Given the description of an element on the screen output the (x, y) to click on. 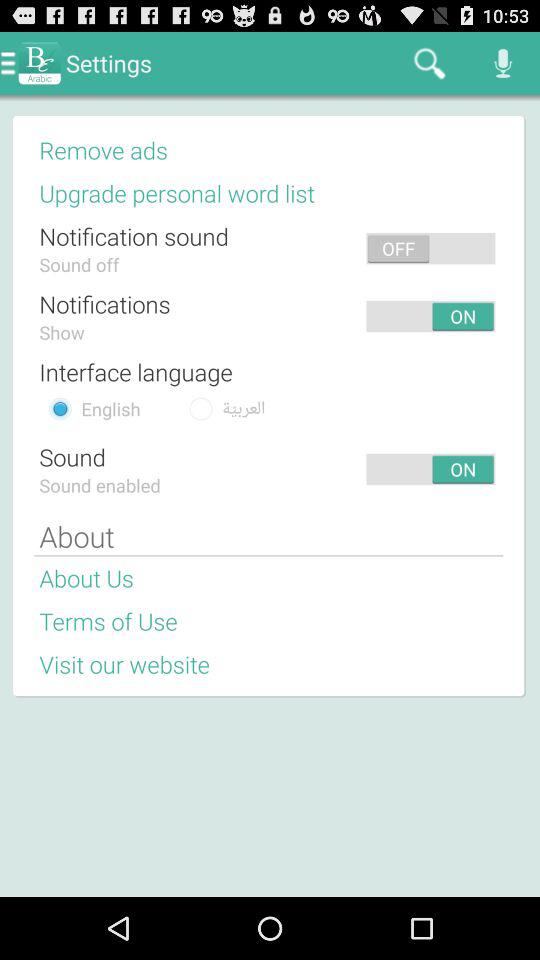
select the notifications app (104, 303)
